Given the description of an element on the screen output the (x, y) to click on. 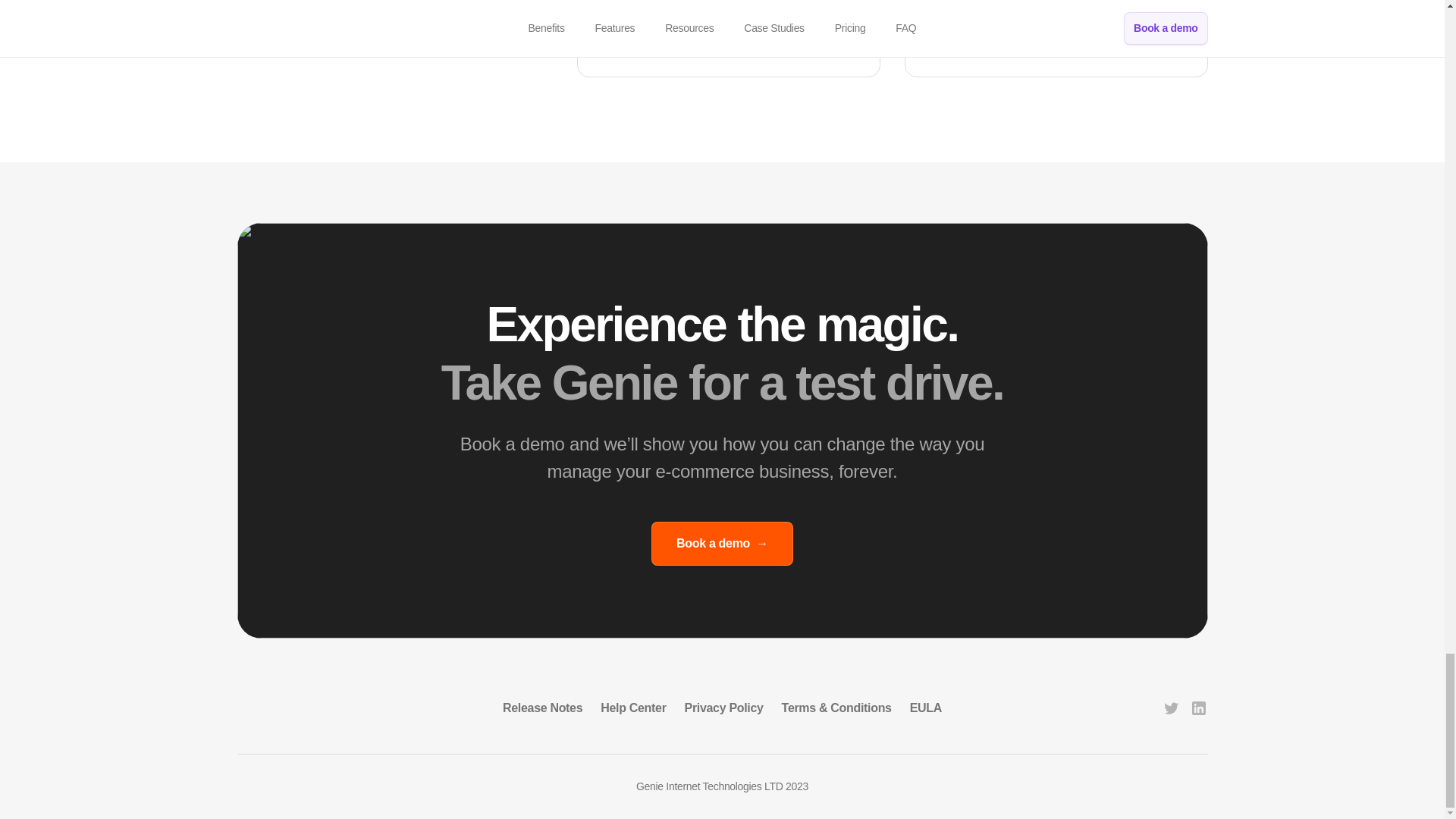
EULA (926, 708)
Release Notes (542, 708)
Help Center (632, 708)
Privacy Policy (723, 708)
